Given the description of an element on the screen output the (x, y) to click on. 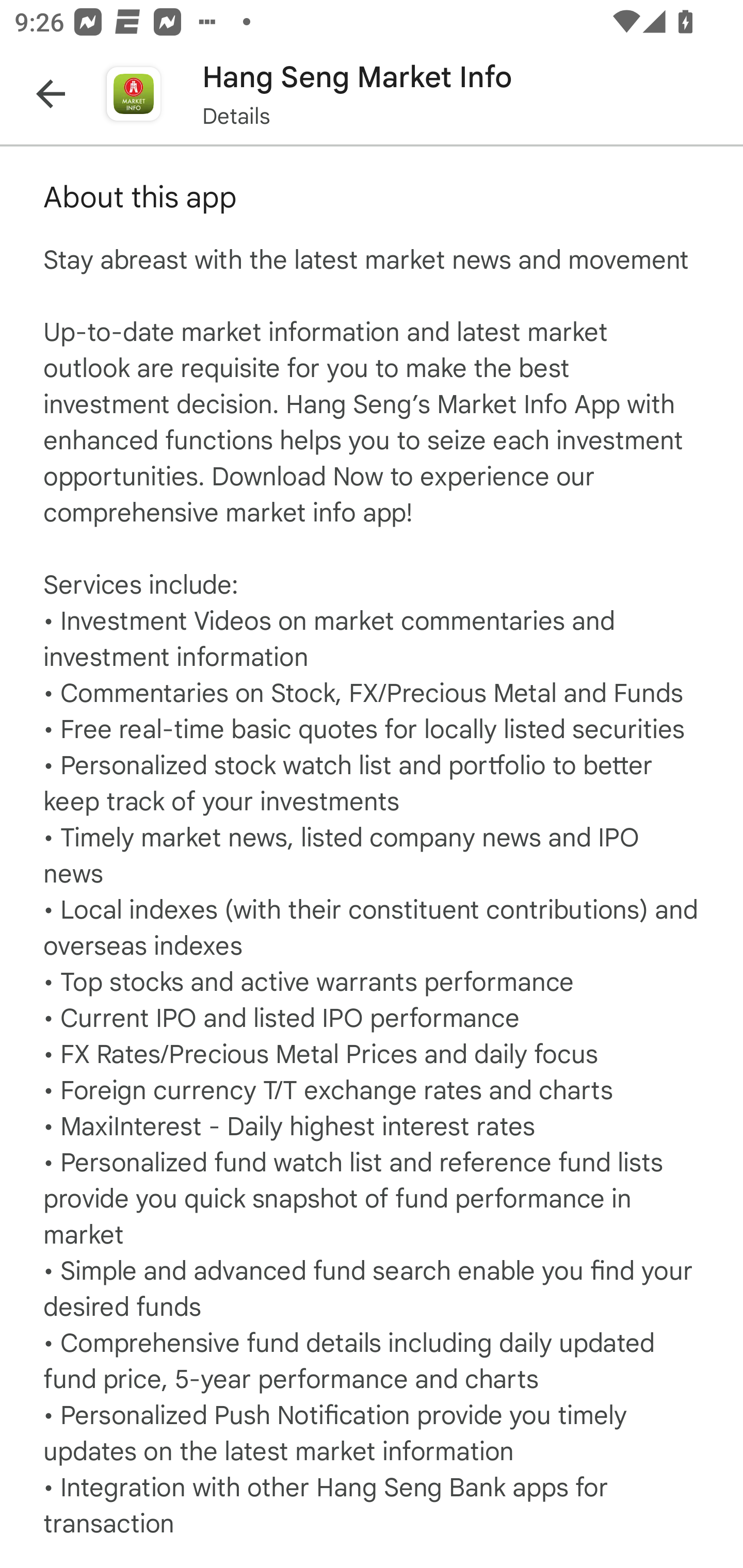
Navigate up (50, 93)
